Given the description of an element on the screen output the (x, y) to click on. 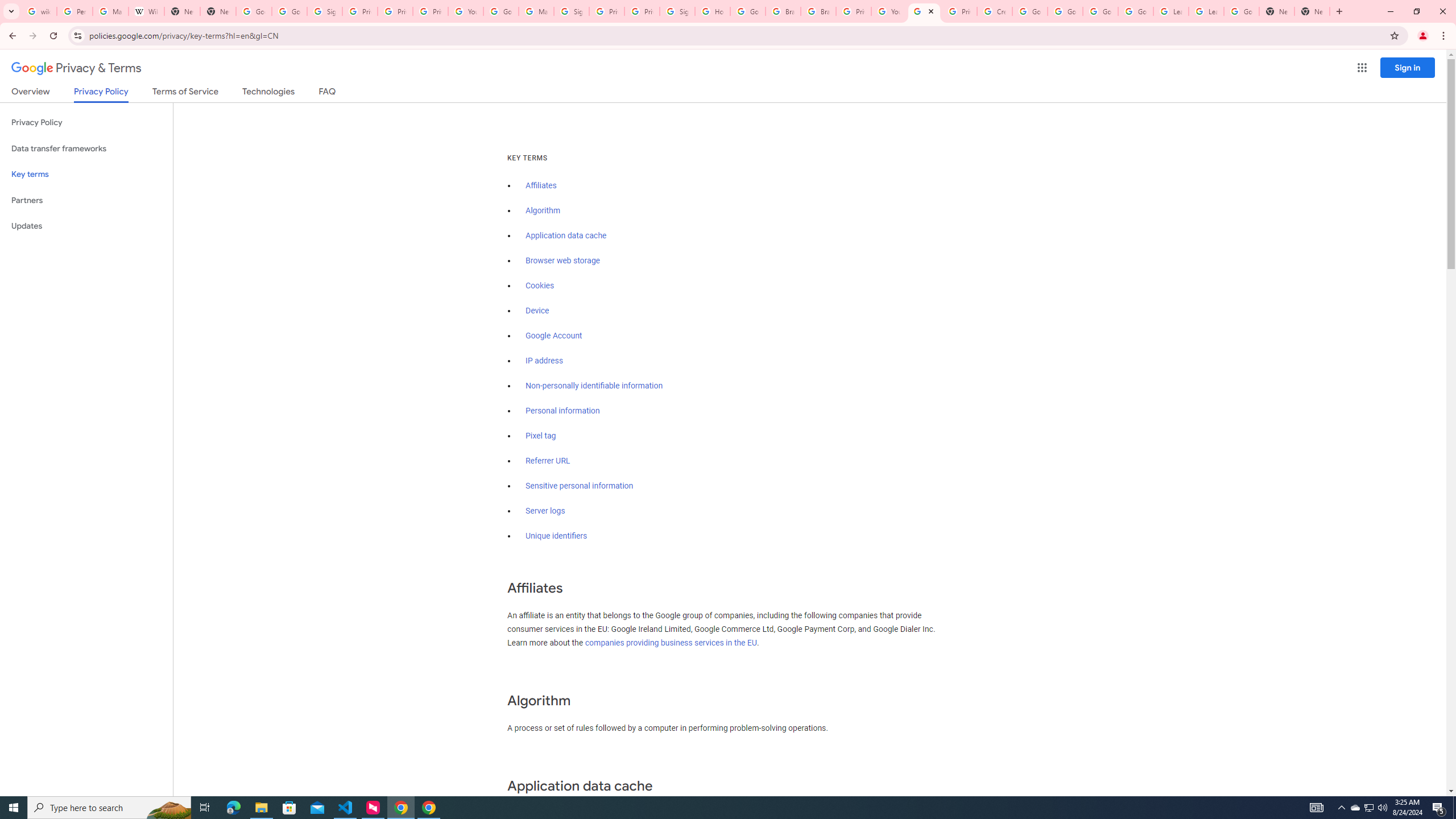
Partners (86, 199)
Google Drive: Sign-in (288, 11)
Manage your Location History - Google Search Help (110, 11)
Google Account Help (1064, 11)
Device (536, 311)
Cookies (539, 285)
Referrer URL (547, 461)
Brand Resource Center (817, 11)
Data transfer frameworks (86, 148)
